Given the description of an element on the screen output the (x, y) to click on. 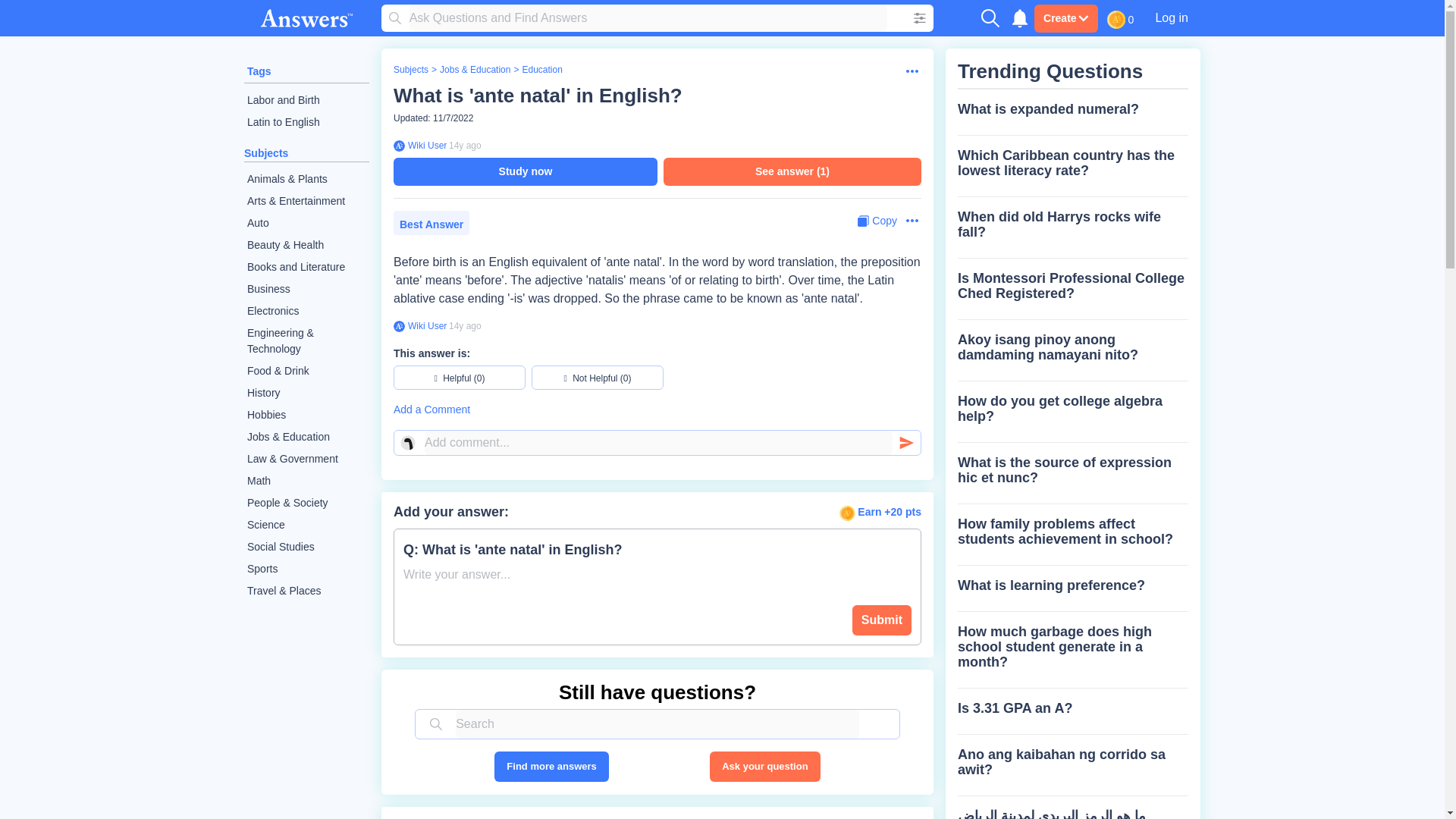
Wiki User (425, 145)
Latin to English (306, 122)
Study now (525, 171)
Copy (876, 220)
Auto (306, 223)
2009-11-13 03:08:28 (464, 326)
Subjects (410, 69)
Electronics (306, 311)
Math (306, 481)
Tags (258, 70)
